Given the description of an element on the screen output the (x, y) to click on. 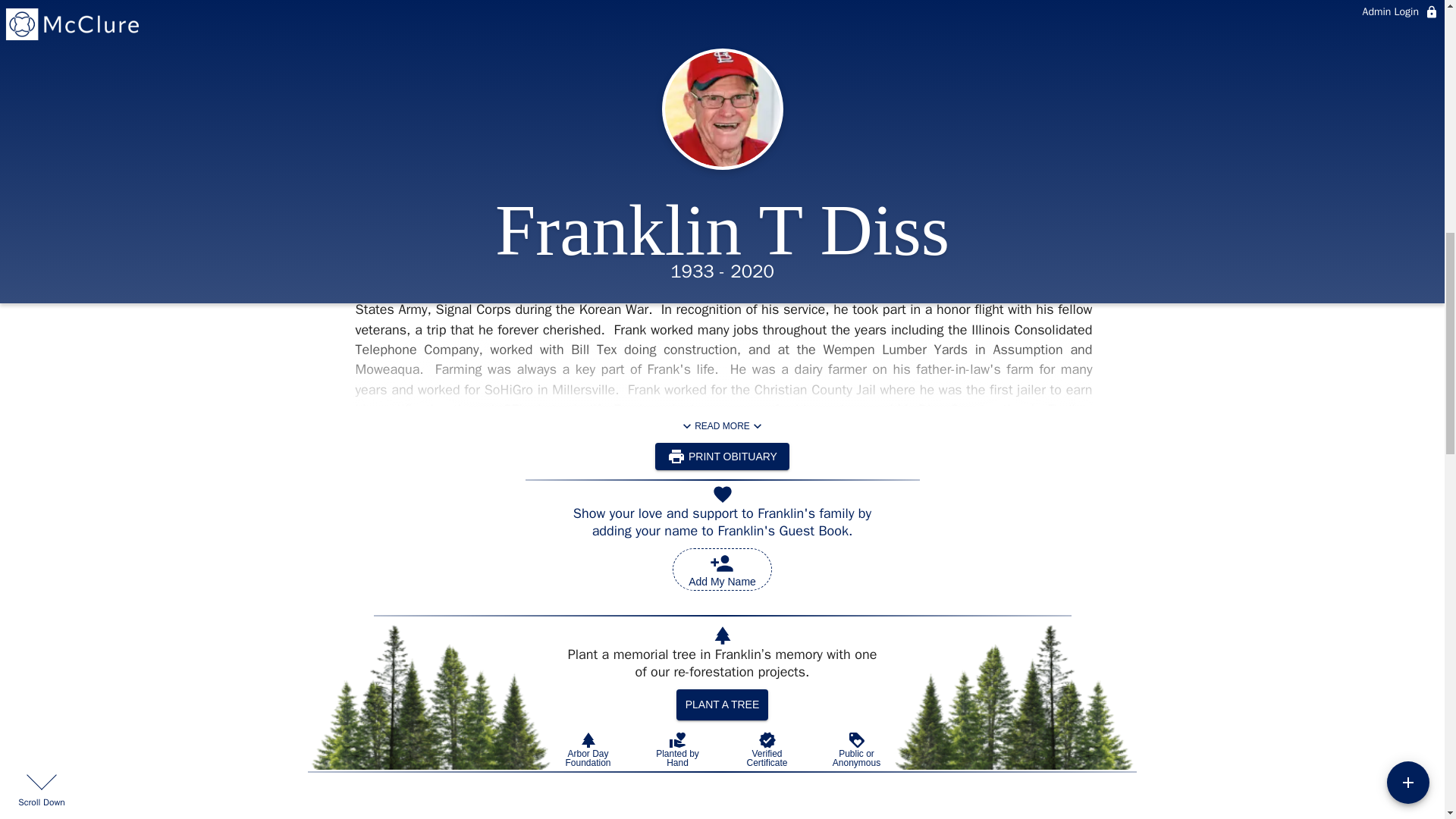
Add My Name (721, 568)
EVENTS (848, 102)
Planted by Hand (676, 749)
PLANT A TREE (729, 102)
OBITUARY (722, 704)
Arbor Day Foundation (602, 102)
Verified Certificate (722, 102)
READ MORE (587, 749)
Public or Anonymous (766, 749)
Upload Photos of Franklin (721, 425)
 PRINT OBITUARY (855, 749)
